Given the description of an element on the screen output the (x, y) to click on. 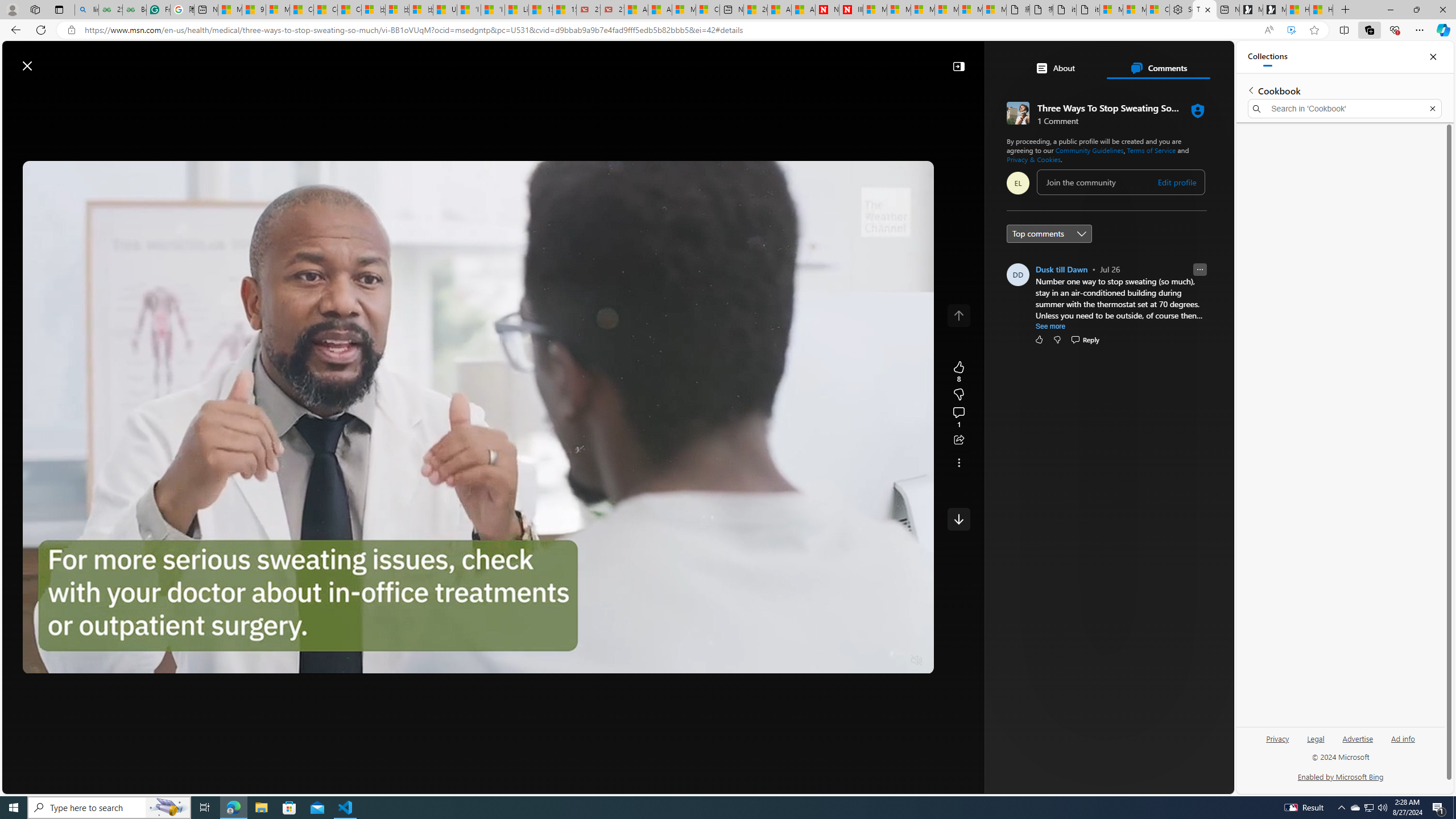
Report comment (1200, 269)
Community Guidelines (1089, 149)
Class: control (958, 518)
Seek Forward (85, 660)
